Given the description of an element on the screen output the (x, y) to click on. 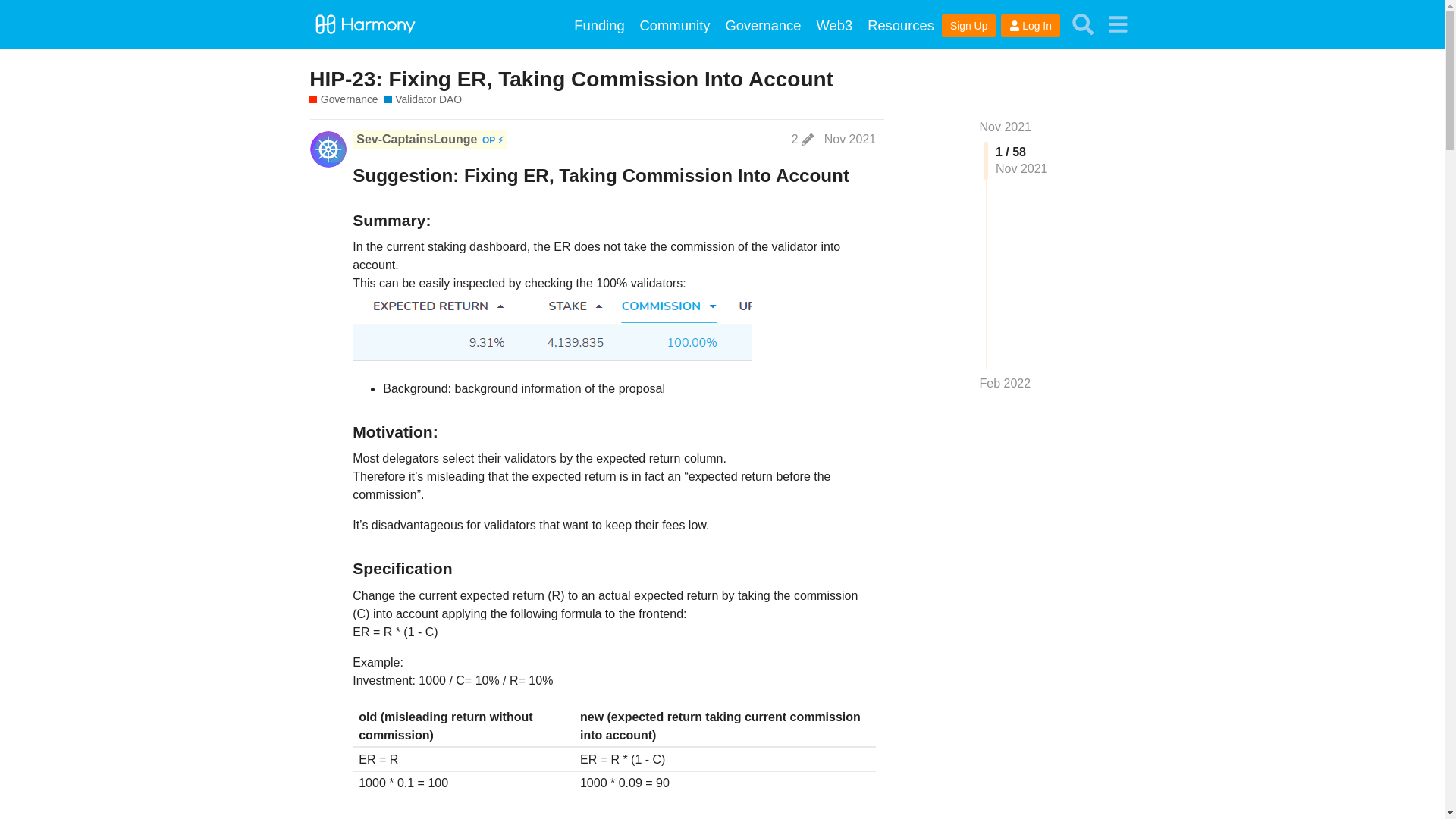
Resources (901, 25)
Keep up with the community (674, 25)
Jump to the last post (1004, 382)
2 (802, 139)
Sign Up (968, 25)
Network Governance (422, 99)
Feb 2022 (1004, 383)
HIP-23: Fixing ER, Taking Commission Into Account (570, 78)
Community (674, 25)
Post date (850, 138)
Nov 2021 (1005, 126)
BUIDL on Harmony (834, 25)
Funding (598, 25)
Ecosystem Fund (598, 25)
Governance (762, 25)
